Given the description of an element on the screen output the (x, y) to click on. 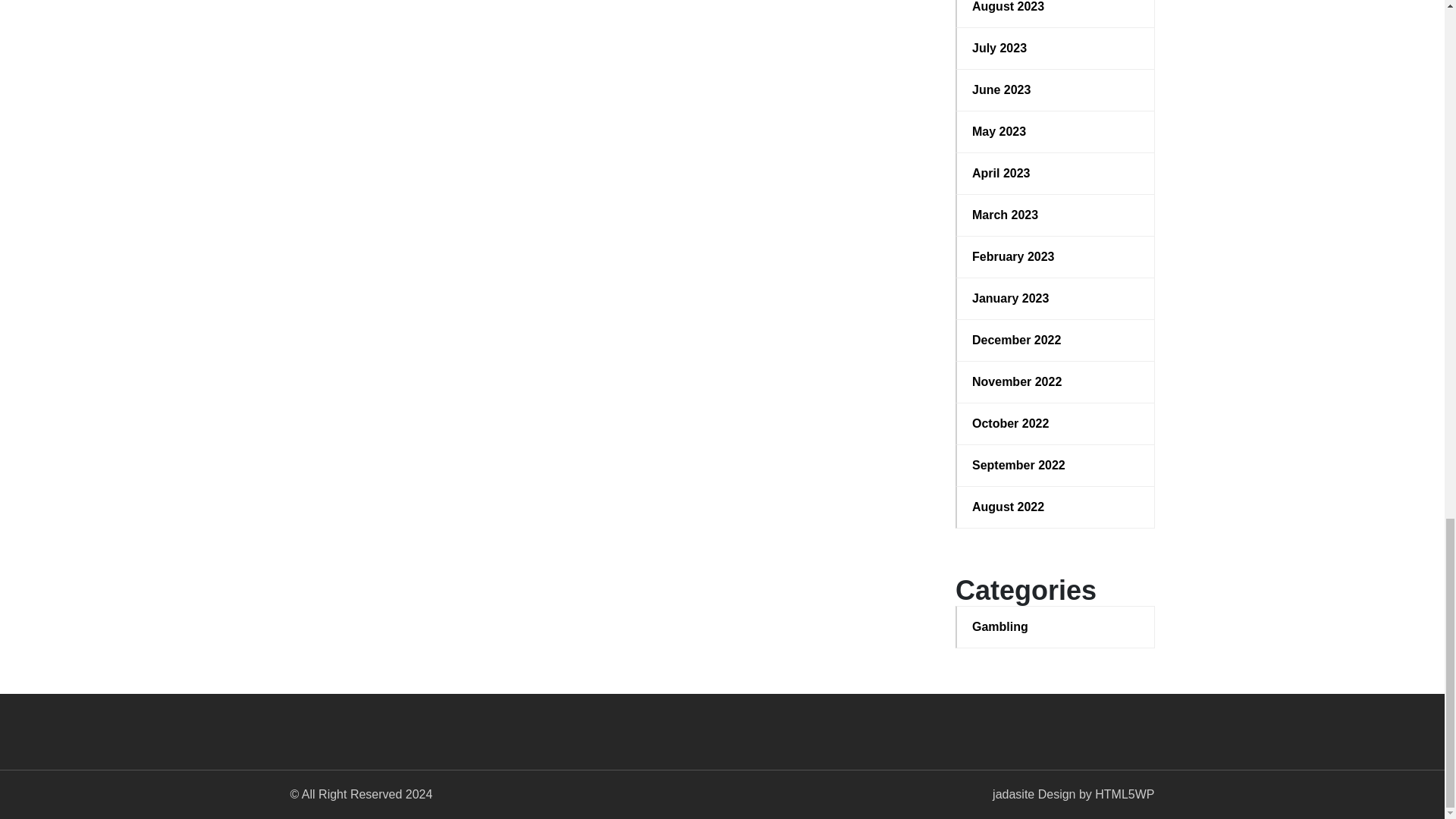
January 2023 (1055, 298)
June 2023 (1055, 90)
May 2023 (1055, 131)
August 2022 (1055, 506)
December 2022 (1055, 340)
February 2023 (1055, 257)
October 2022 (1055, 423)
September 2022 (1055, 465)
July 2023 (1055, 48)
August 2023 (1055, 7)
November 2022 (1055, 382)
March 2023 (1055, 215)
April 2023 (1055, 173)
